Given the description of an element on the screen output the (x, y) to click on. 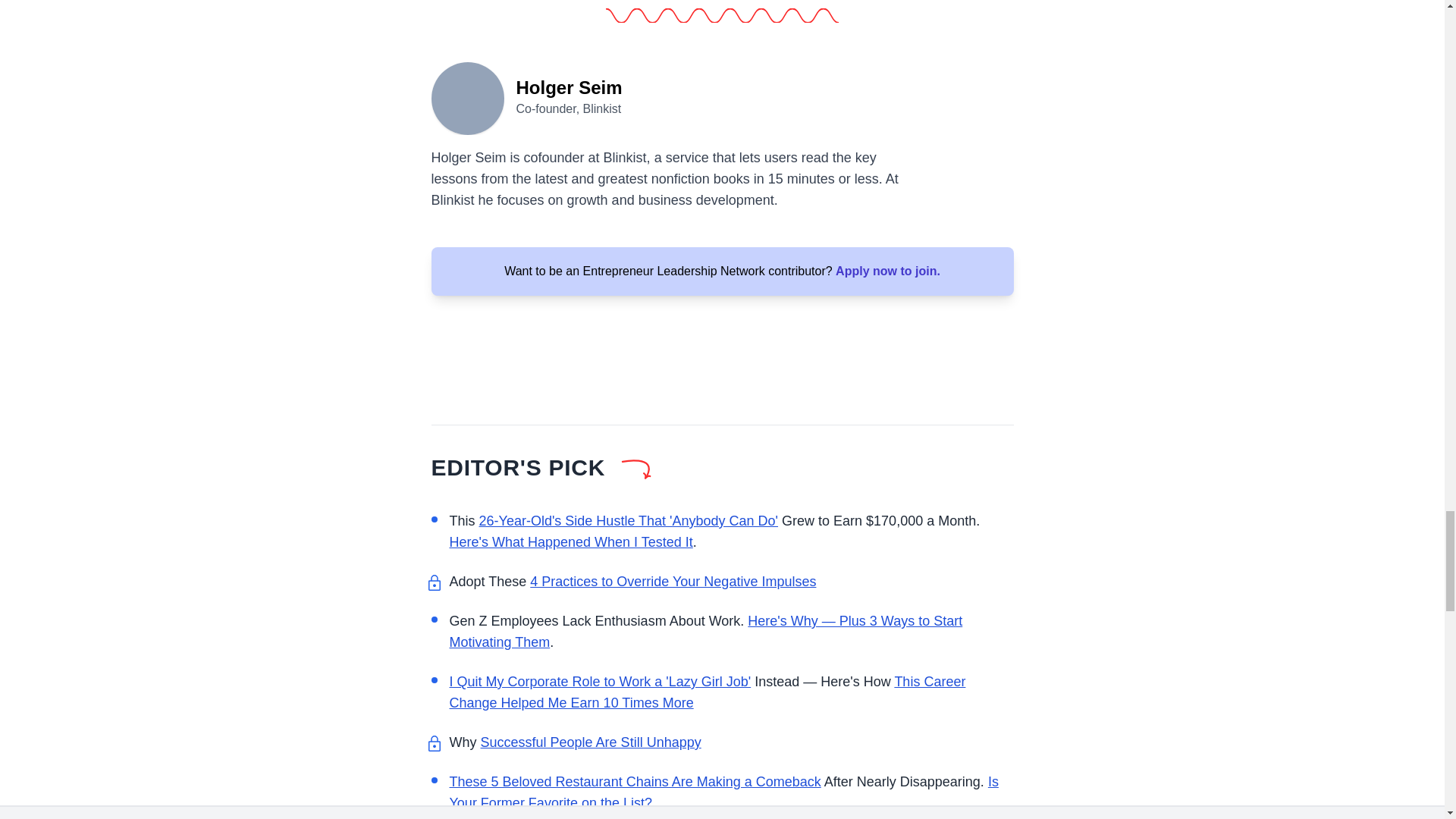
Holger Seim (466, 96)
